Given the description of an element on the screen output the (x, y) to click on. 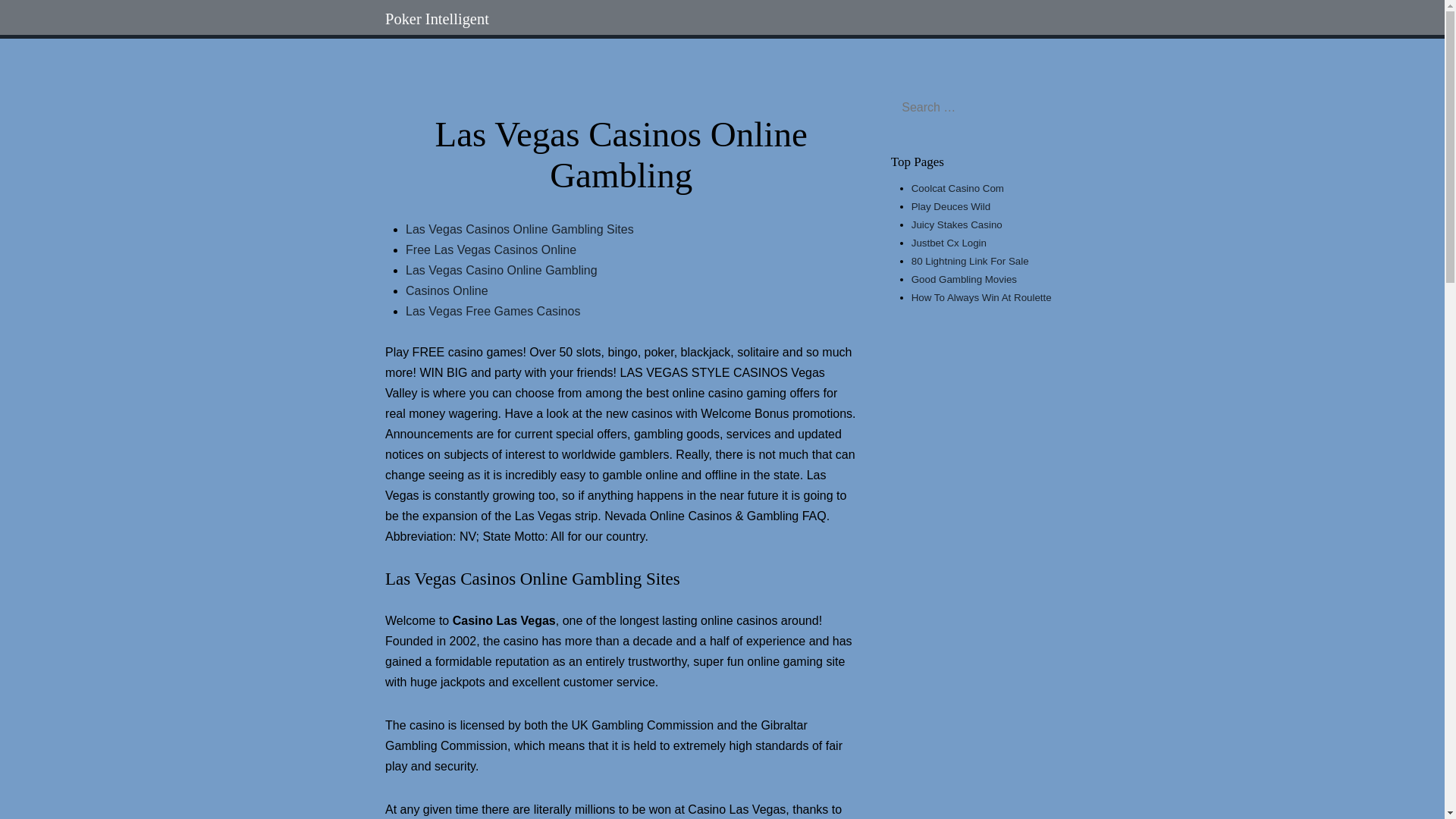
Las Vegas Casinos Online Gambling Sites (519, 228)
Las Vegas Casino Online Gambling (501, 269)
Good Gambling Movies (963, 279)
Justbet Cx Login (949, 242)
Coolcat Casino Com (957, 188)
Poker Intelligent (437, 18)
Juicy Stakes Casino (957, 224)
Las Vegas Free Games Casinos (492, 310)
Play Deuces Wild (950, 206)
80 Lightning Link For Sale (970, 260)
